Given the description of an element on the screen output the (x, y) to click on. 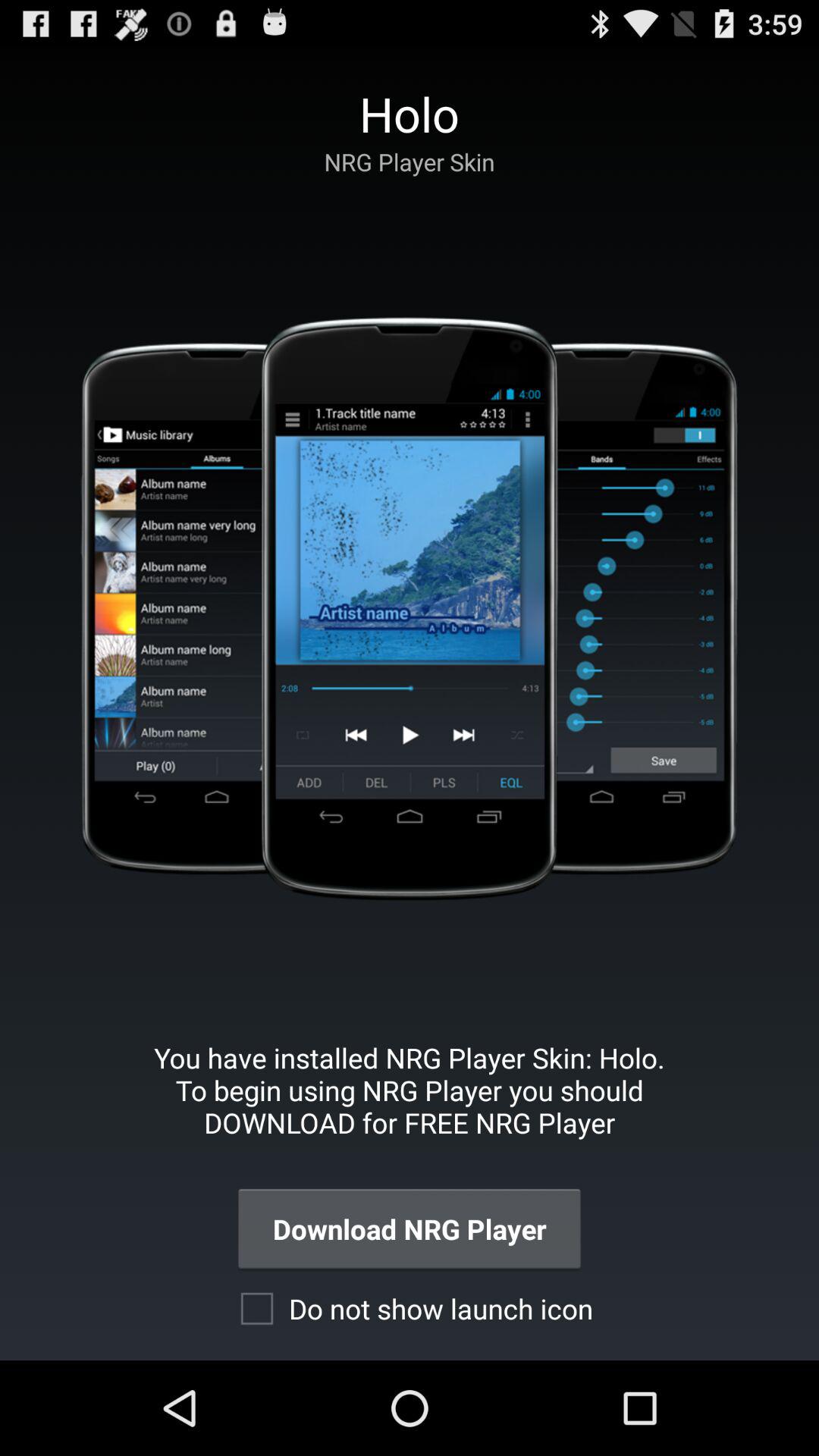
open icon above you have installed app (408, 608)
